Given the description of an element on the screen output the (x, y) to click on. 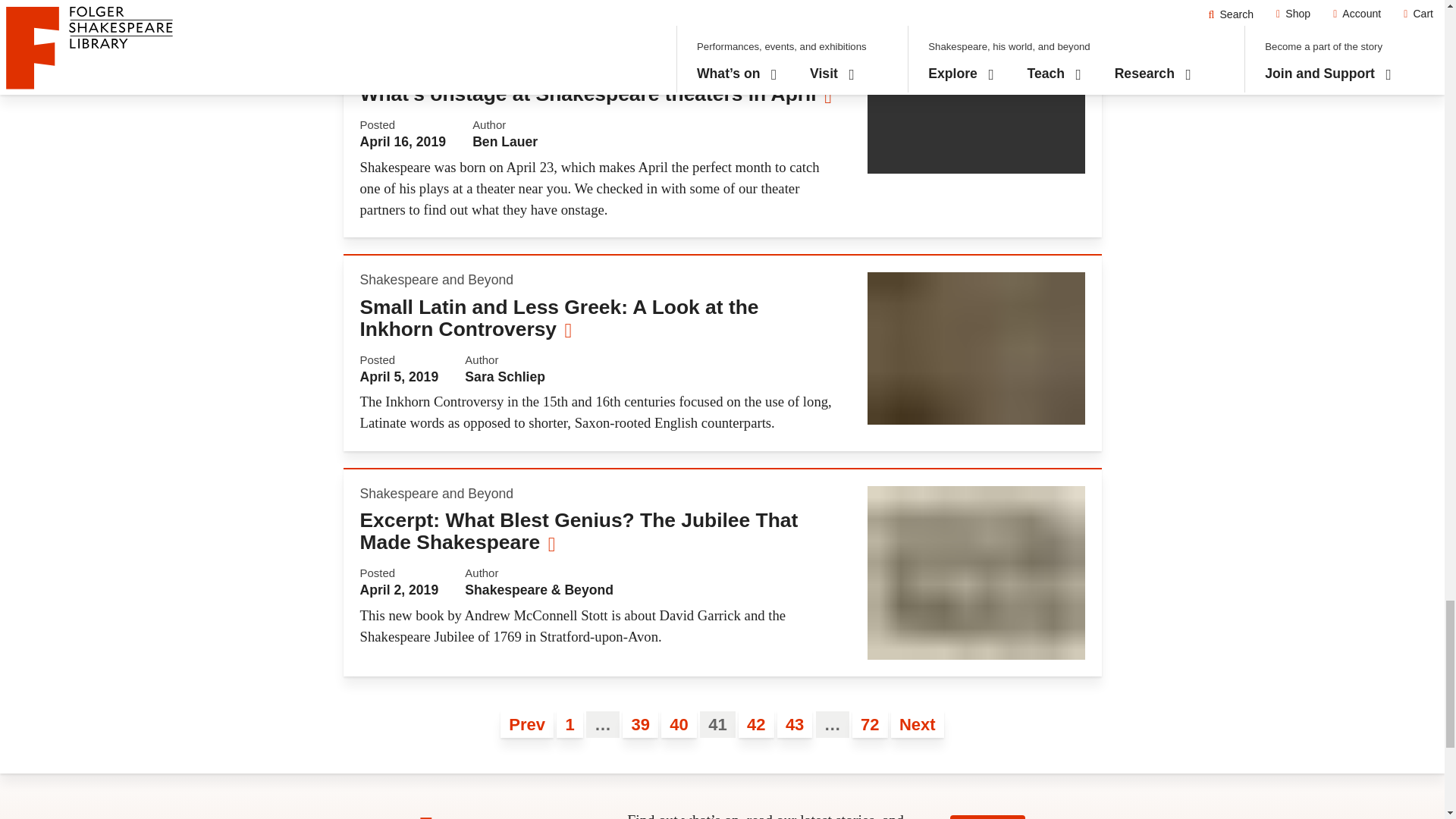
Woodblock print illustrating the proper set up of a kitchen (975, 3)
Shakespeare Jubilee (975, 573)
dictionary (975, 348)
